Given the description of an element on the screen output the (x, y) to click on. 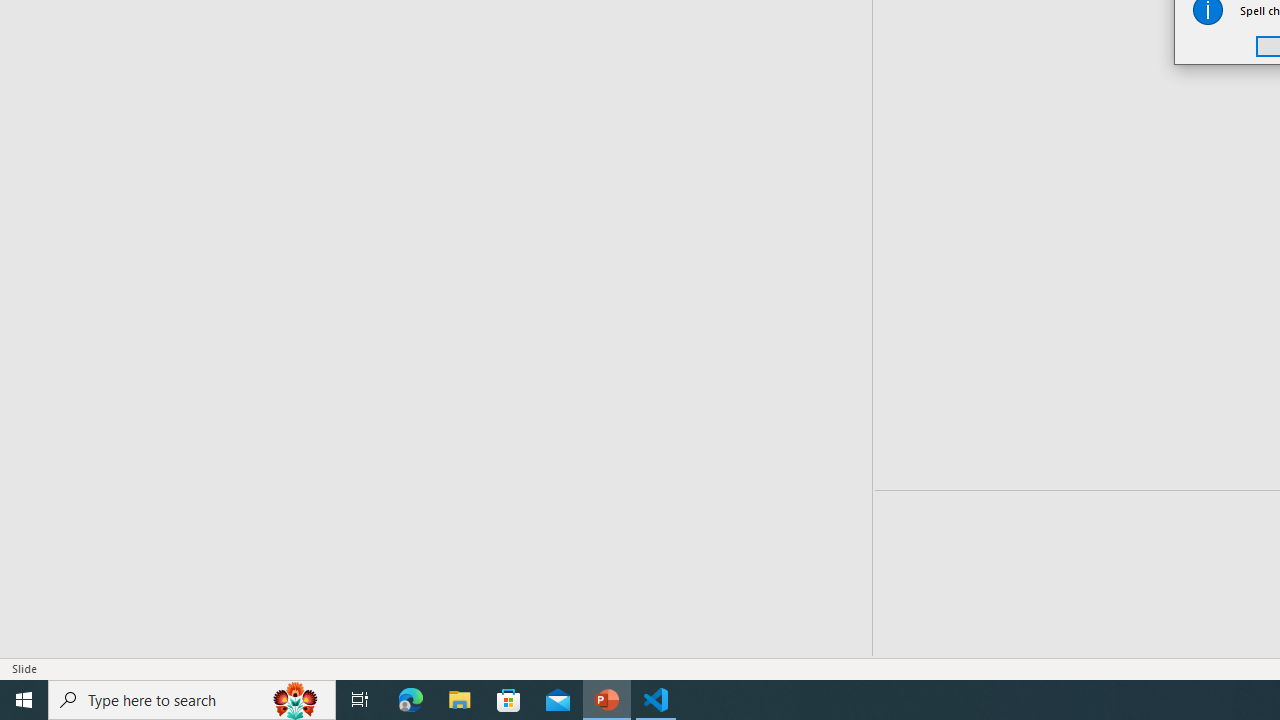
Visual Studio Code - 1 running window (656, 699)
Search highlights icon opens search home window (295, 699)
Microsoft Edge (411, 699)
Task View (359, 699)
Microsoft Store (509, 699)
Type here to search (191, 699)
File Explorer (460, 699)
PowerPoint - 1 running window (607, 699)
Start (24, 699)
